Given the description of an element on the screen output the (x, y) to click on. 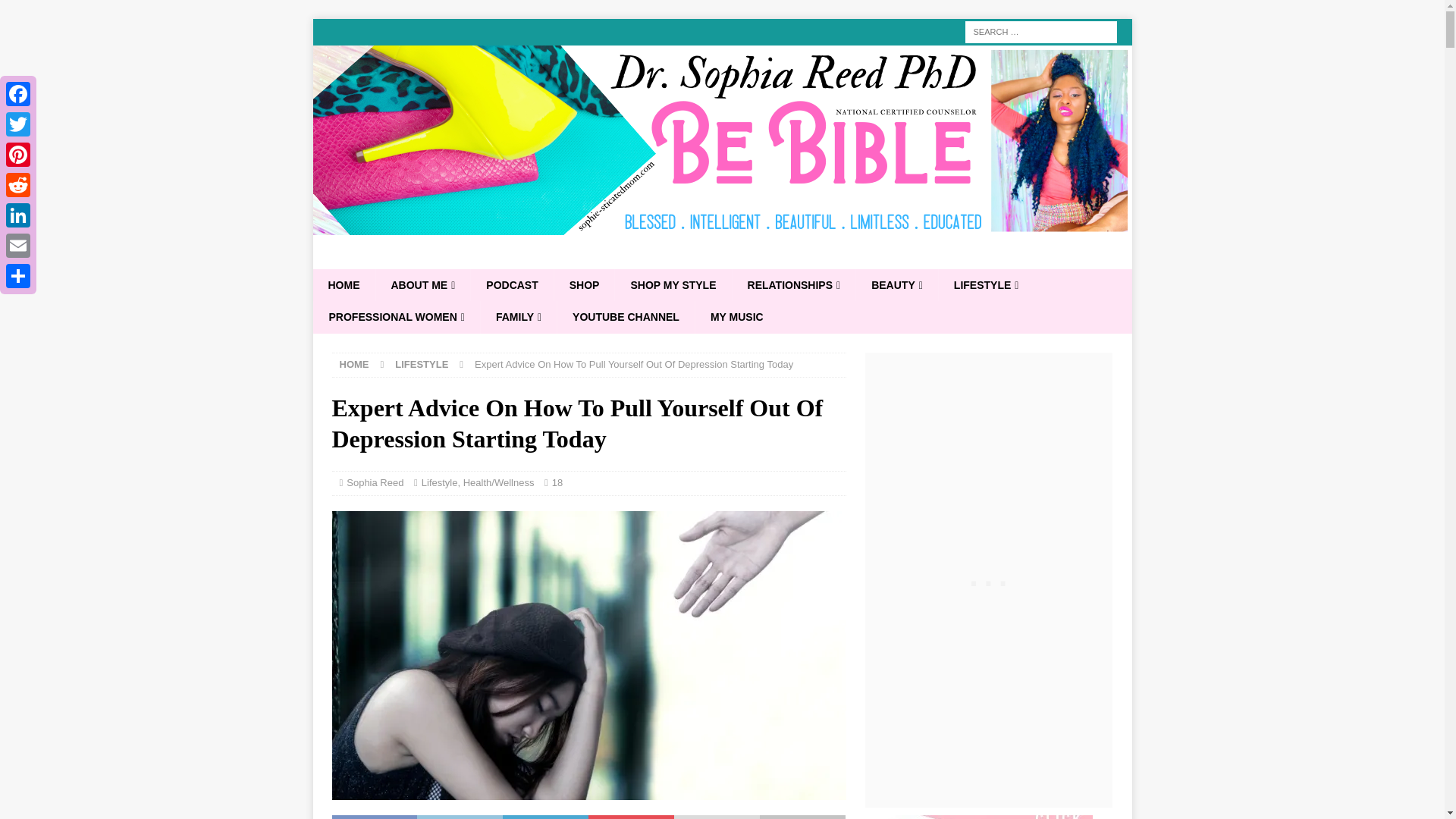
Search (56, 11)
HOME (343, 285)
